Given the description of an element on the screen output the (x, y) to click on. 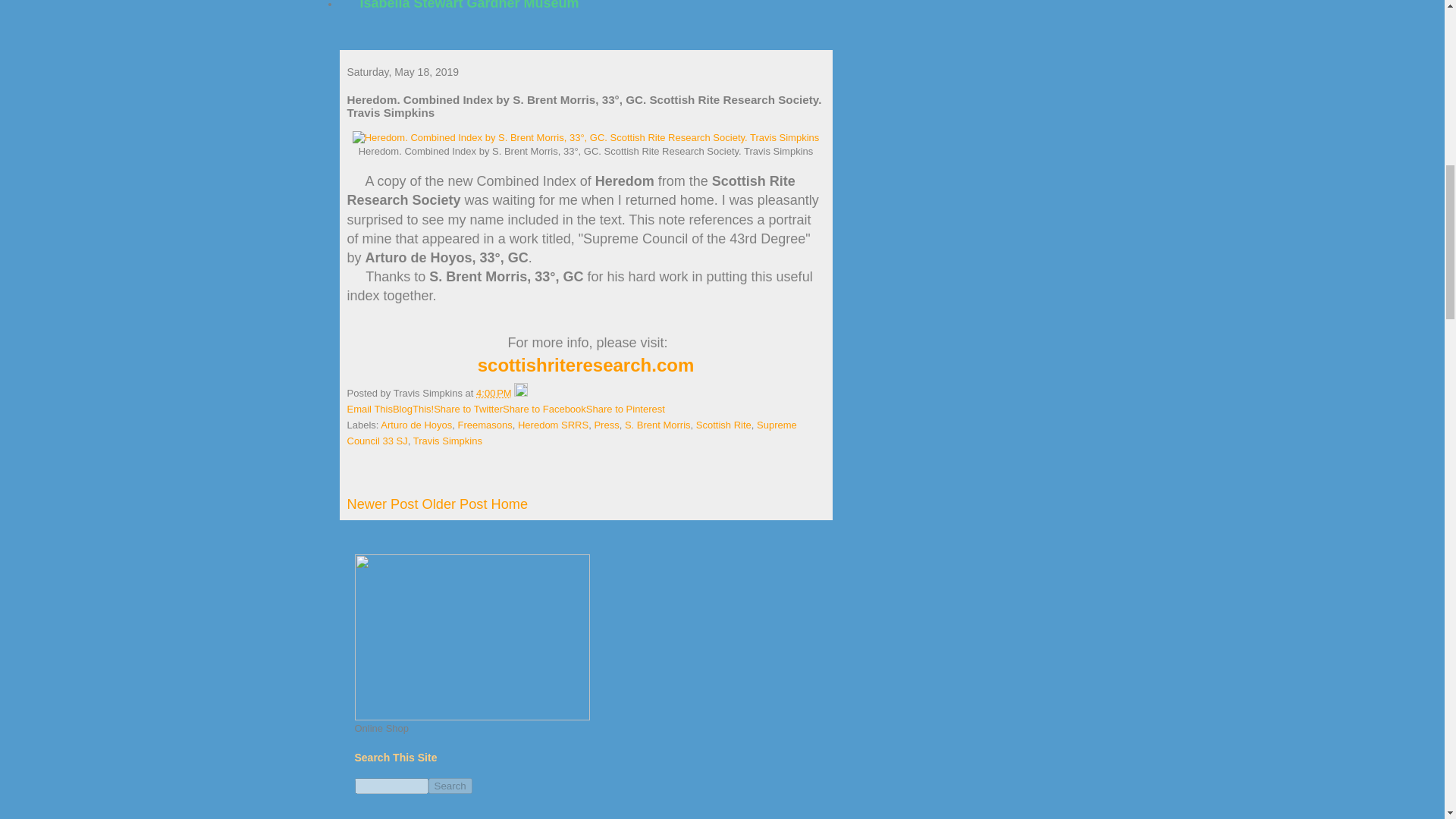
Supreme Council 33 SJ (571, 432)
Newer Post (383, 503)
Share to Facebook (544, 408)
permanent link (494, 392)
Older Post (454, 503)
Share to Pinterest (625, 408)
Search (449, 785)
scottishriteresearch.com (585, 364)
Freemasons (485, 424)
Arturo de Hoyos (415, 424)
